Given the description of an element on the screen output the (x, y) to click on. 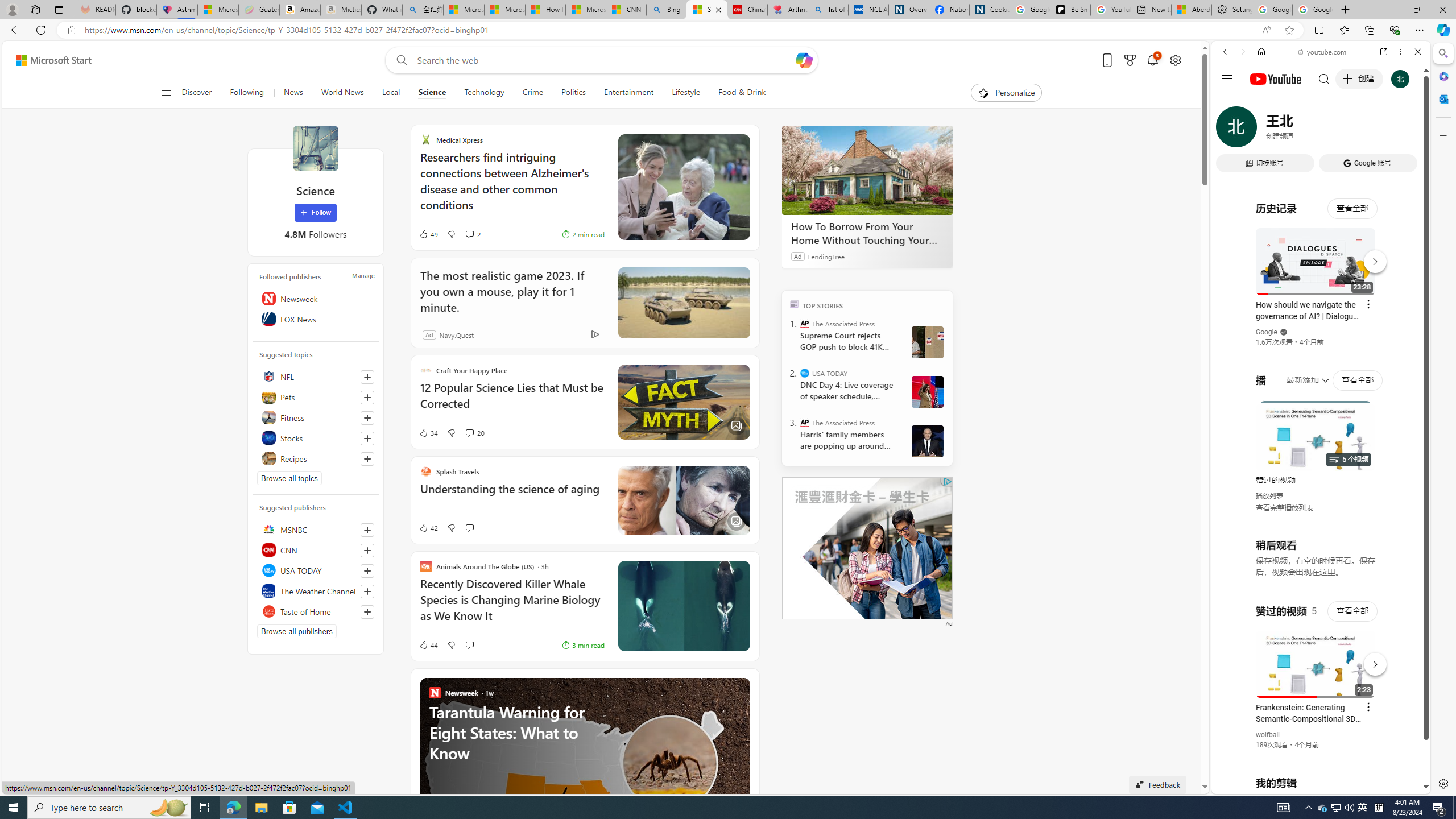
View comments 2 Comment (472, 233)
Manage (362, 275)
Follow this source (367, 611)
Close Customize pane (1442, 135)
Show More Music (1390, 310)
Search videos from youtube.com (1299, 373)
Global web icon (1232, 655)
Crime (532, 92)
WEB   (1230, 130)
Personal Profile (12, 9)
12 Popular Science Lies that Must be Corrected (511, 401)
